Given the description of an element on the screen output the (x, y) to click on. 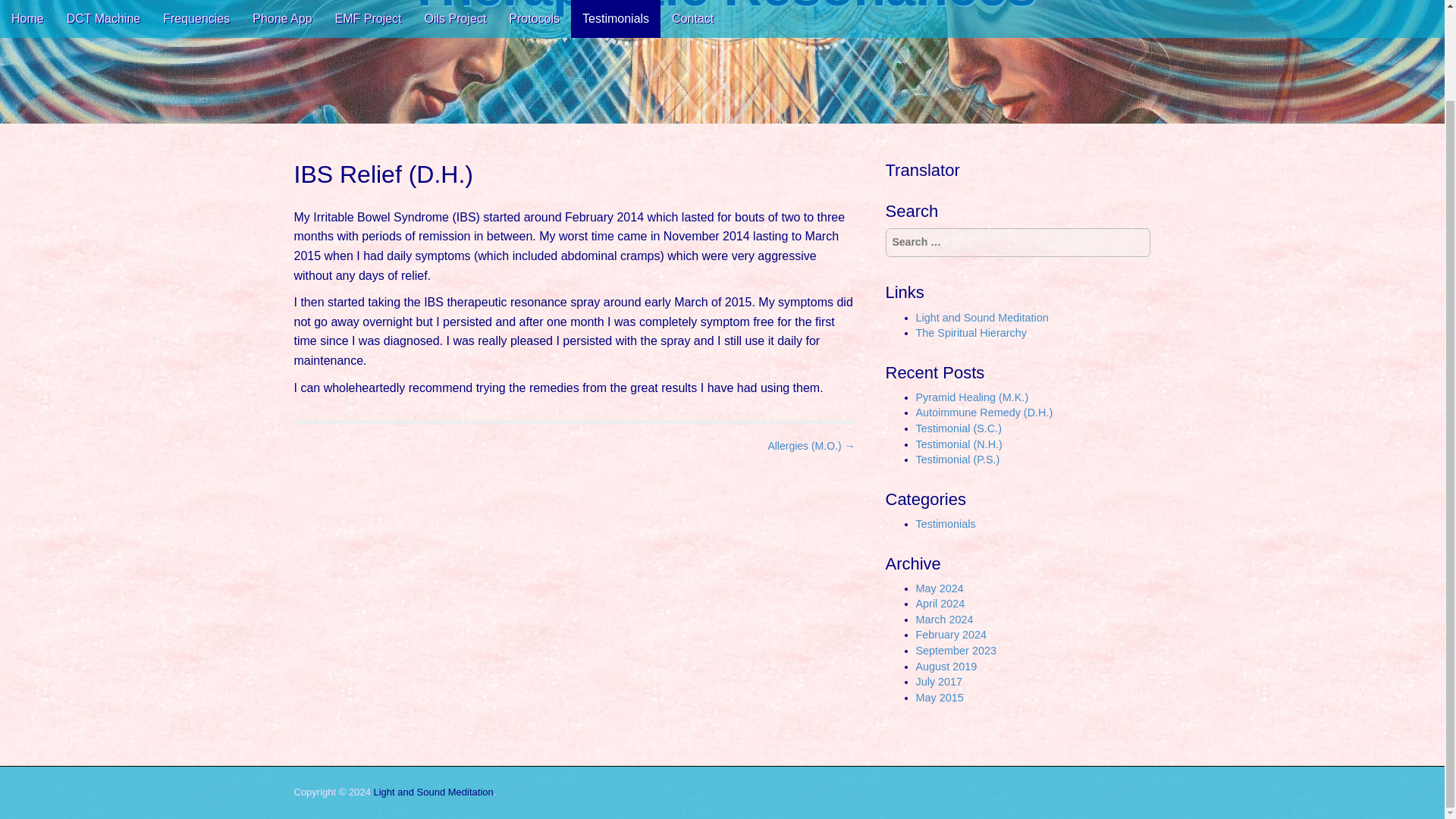
The Spiritual Hierarchy (970, 332)
July 2017 (938, 681)
September 2023 (955, 650)
August 2019 (945, 666)
February 2024 (951, 634)
April 2024 (940, 603)
Light and Sound Meditation (981, 317)
March 2024 (944, 619)
Testimonials (945, 523)
May 2024 (939, 588)
Light and Sound Meditation (432, 791)
May 2015 (939, 697)
